Given the description of an element on the screen output the (x, y) to click on. 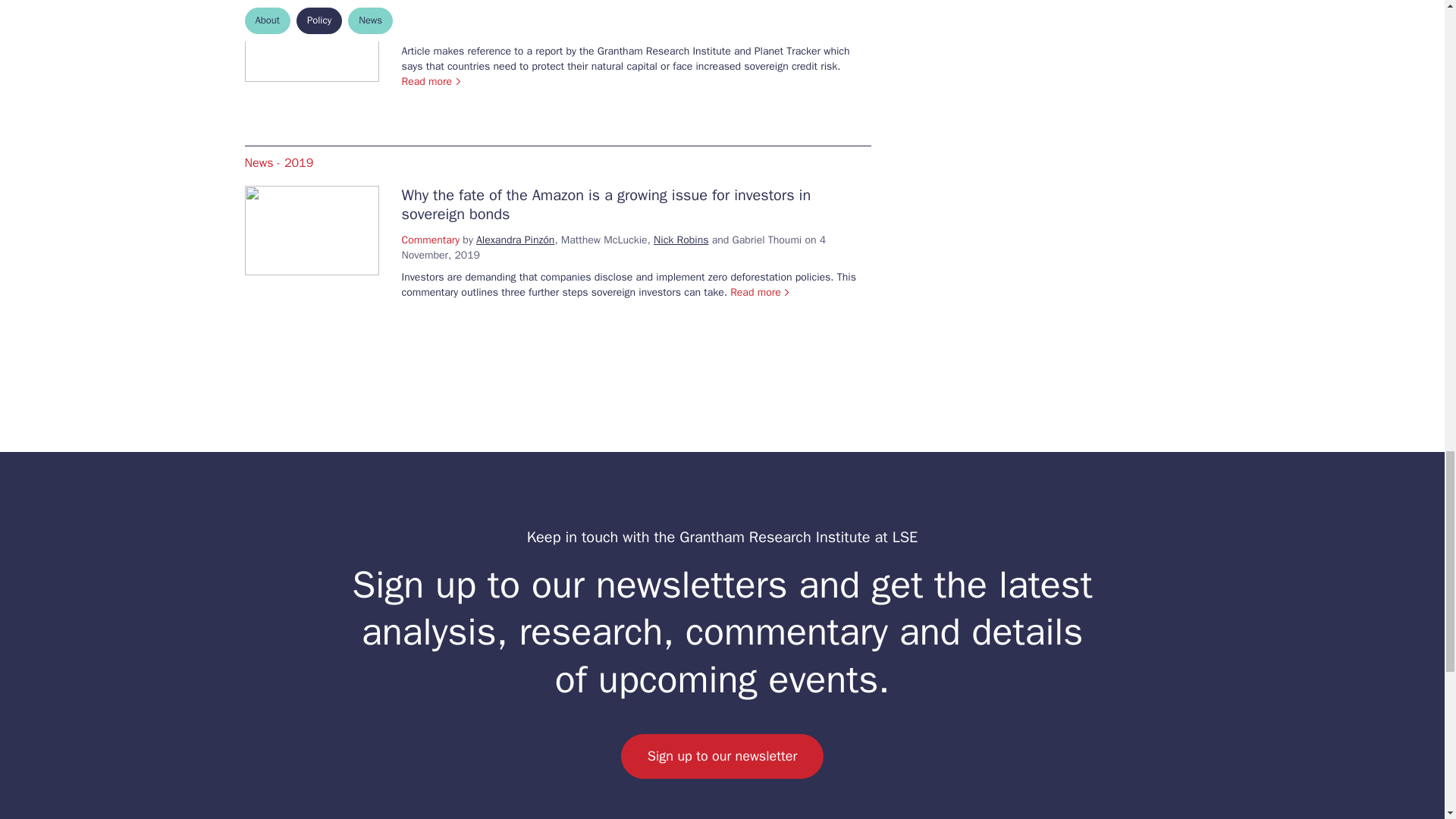
Sovereign debt funds be warned: climate activists are coming (614, 6)
